Given the description of an element on the screen output the (x, y) to click on. 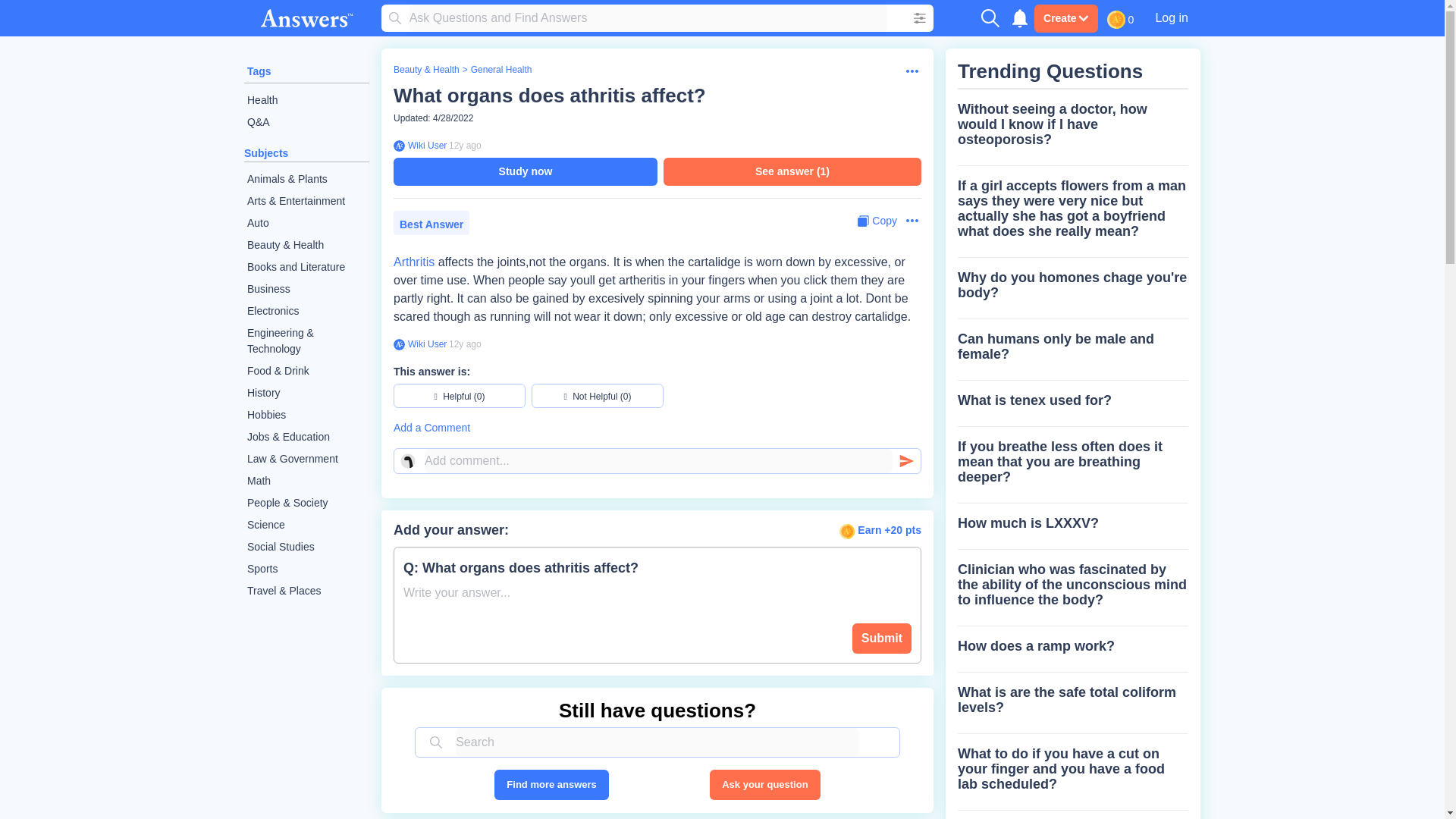
Electronics (306, 311)
Sports (306, 568)
Create (1065, 18)
Auto (306, 223)
Hobbies (306, 414)
Tags (258, 70)
Social Studies (306, 546)
Log in (1170, 17)
2012-01-05 21:23:59 (464, 145)
2012-01-05 21:23:59 (464, 344)
Books and Literature (306, 267)
History (306, 393)
Arthritis (413, 261)
Ask your question (764, 784)
Add a Comment (657, 427)
